Given the description of an element on the screen output the (x, y) to click on. 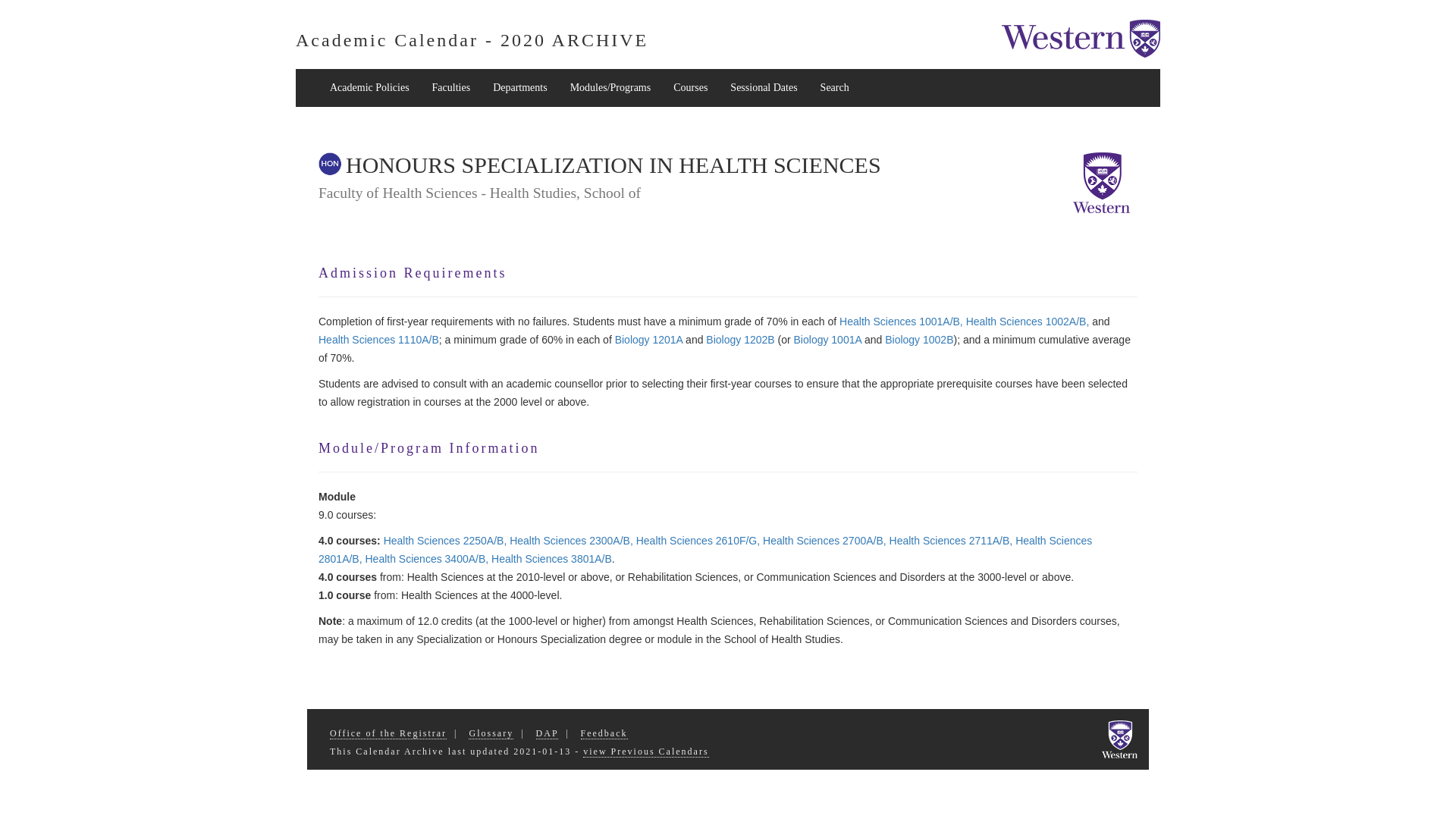
Biology 1002B (919, 339)
Courses (690, 87)
Departments (520, 87)
Glossary (490, 733)
Biology 1202B (740, 339)
Academic Policies (369, 87)
Office of the Registrar (388, 733)
Feedback (603, 733)
Biology 1201A (648, 339)
Faculties (450, 87)
